Given the description of an element on the screen output the (x, y) to click on. 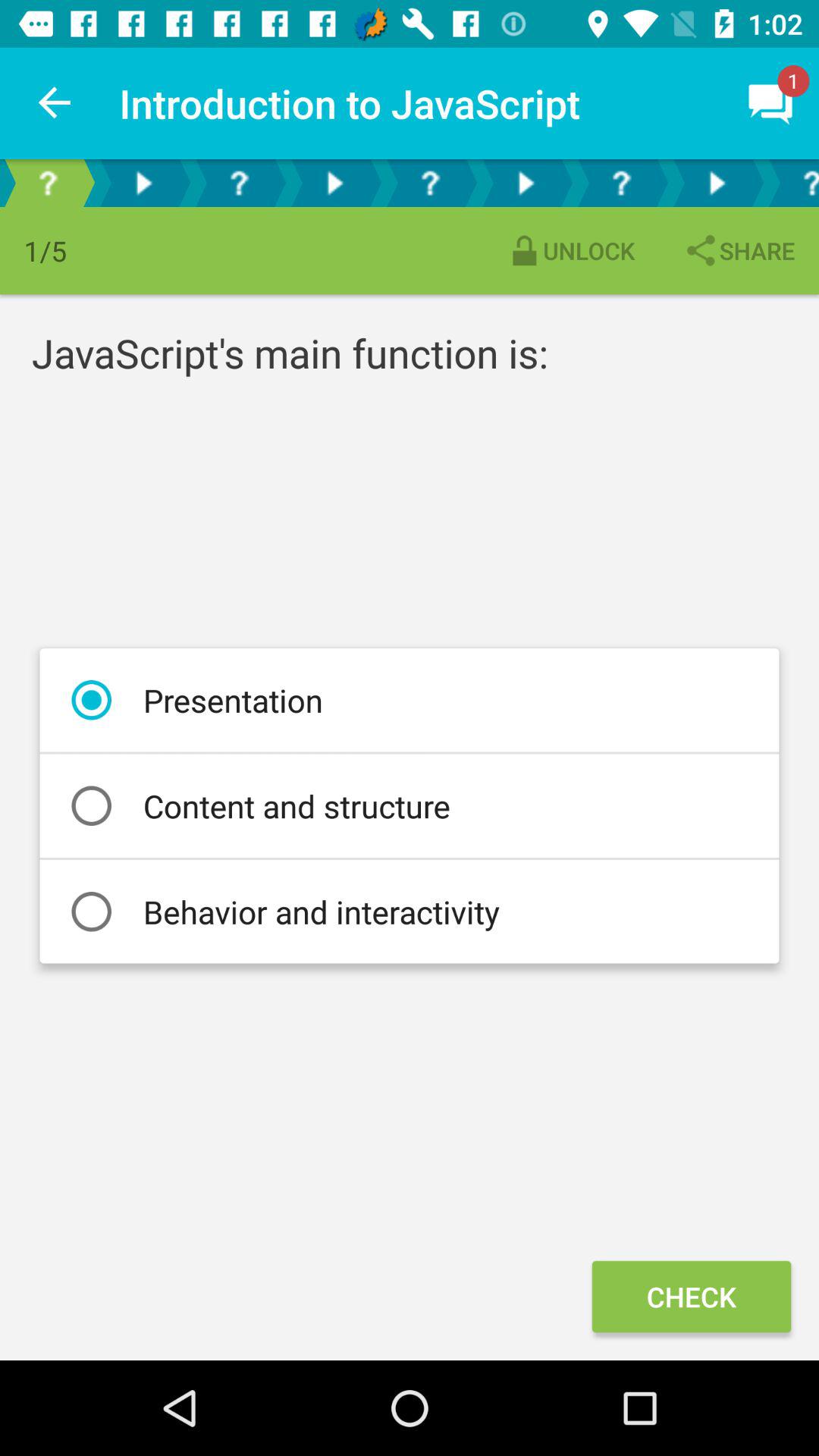
choose unlock item (570, 250)
